Given the description of an element on the screen output the (x, y) to click on. 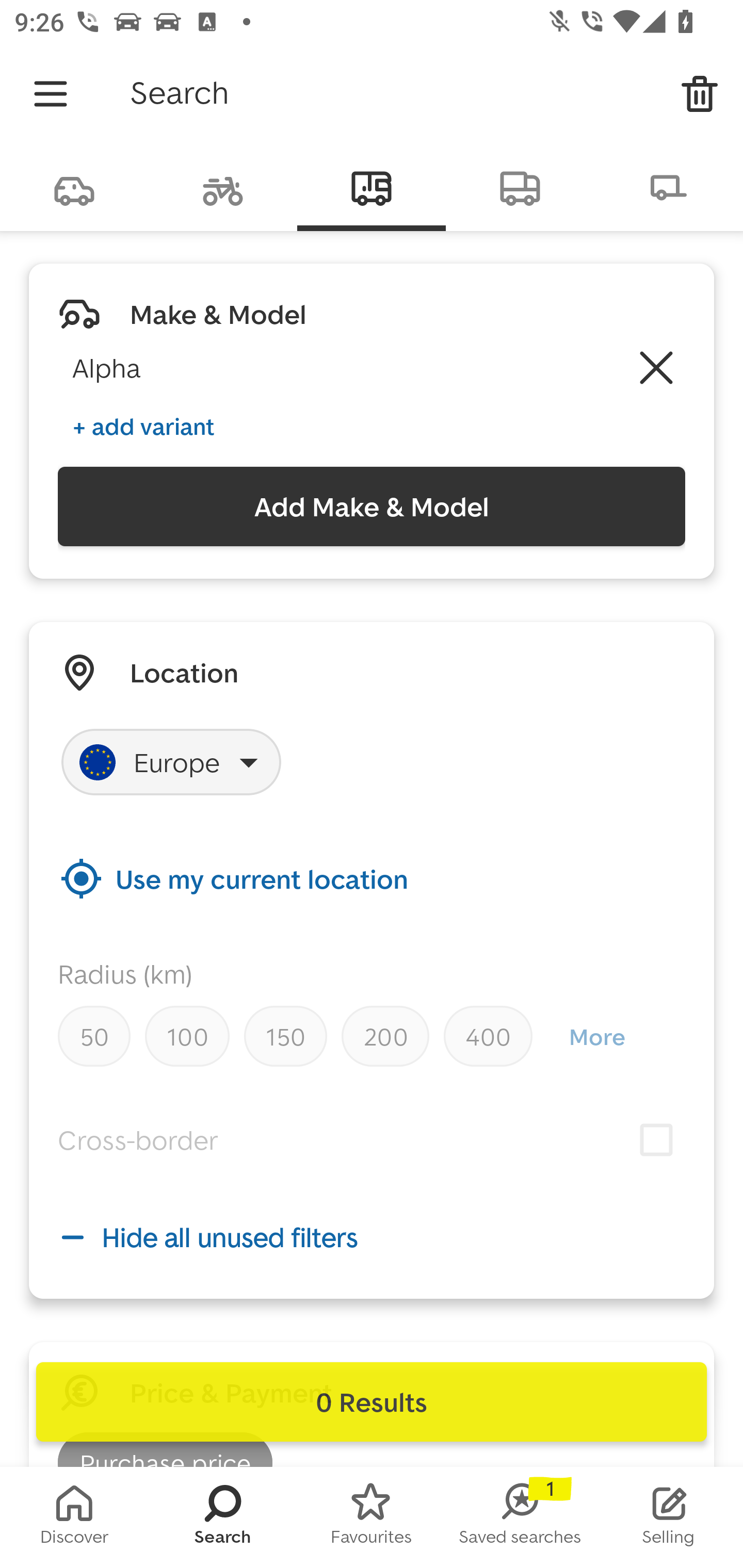
Navigate up (50, 93)
New search (699, 93)
CAR_SEARCH (74, 187)
BIKE_SEARCH (222, 187)
TRUCKS_SEARCH (519, 187)
TRAILERS_SEARCH (668, 187)
Make & Model (218, 314)
+ add variant (143, 426)
Add Make & Model (371, 506)
Location (184, 672)
Europe (170, 761)
Use my current location (371, 877)
Radius (km) (124, 973)
50 (93, 1035)
100 (186, 1035)
150 (284, 1035)
200 (385, 1035)
400 (487, 1035)
More (596, 1036)
Hide all unused filters (371, 1236)
0 Results (371, 1401)
HOMESCREEN Discover (74, 1517)
SEARCH Search (222, 1517)
FAVORITES Favourites (371, 1517)
SAVED_SEARCHES Saved searches 1 (519, 1517)
STOCK_LIST Selling (668, 1517)
